Given the description of an element on the screen output the (x, y) to click on. 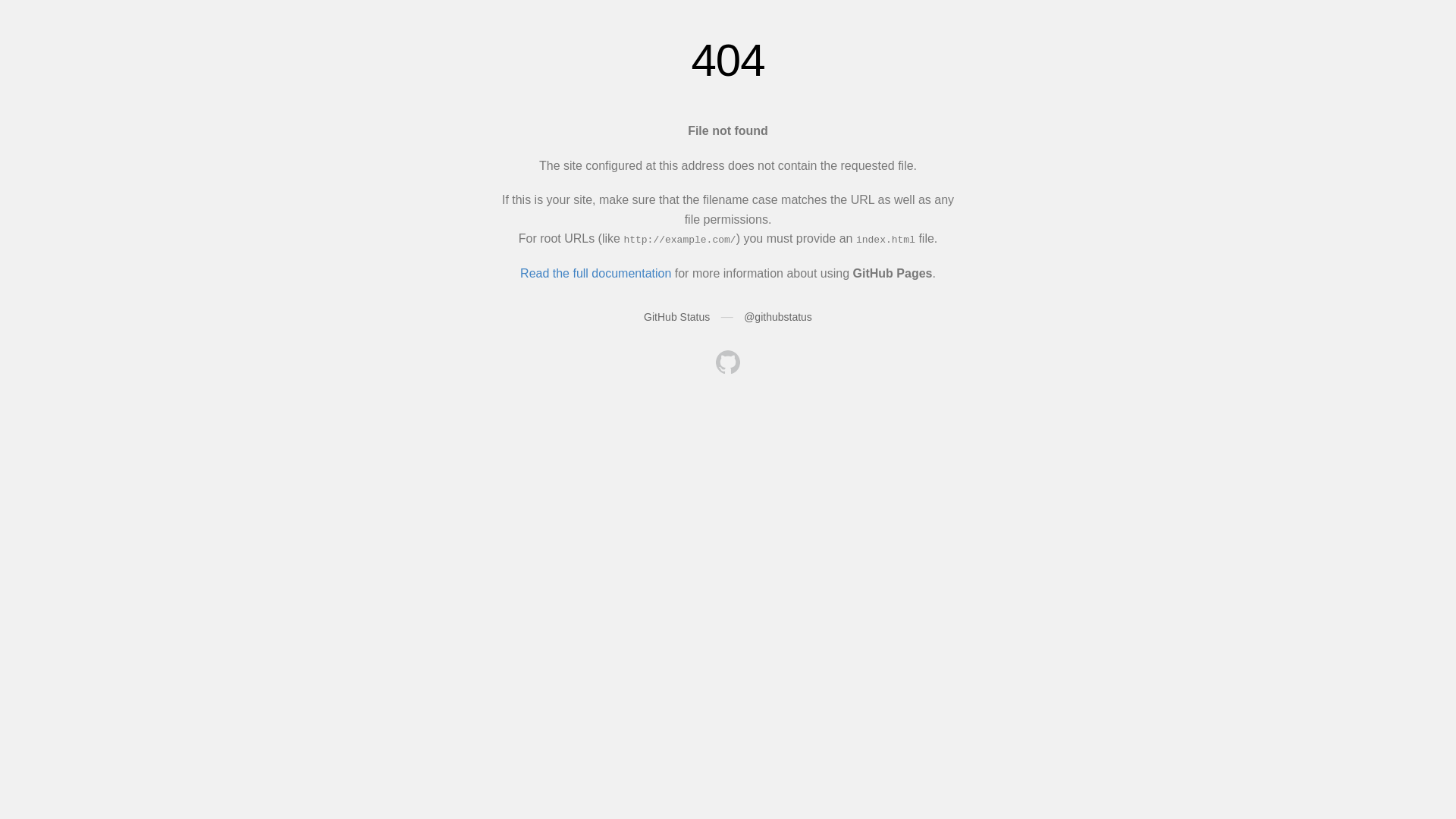
@githubstatus Element type: text (777, 316)
GitHub Status Element type: text (676, 316)
Read the full documentation Element type: text (595, 272)
